Given the description of an element on the screen output the (x, y) to click on. 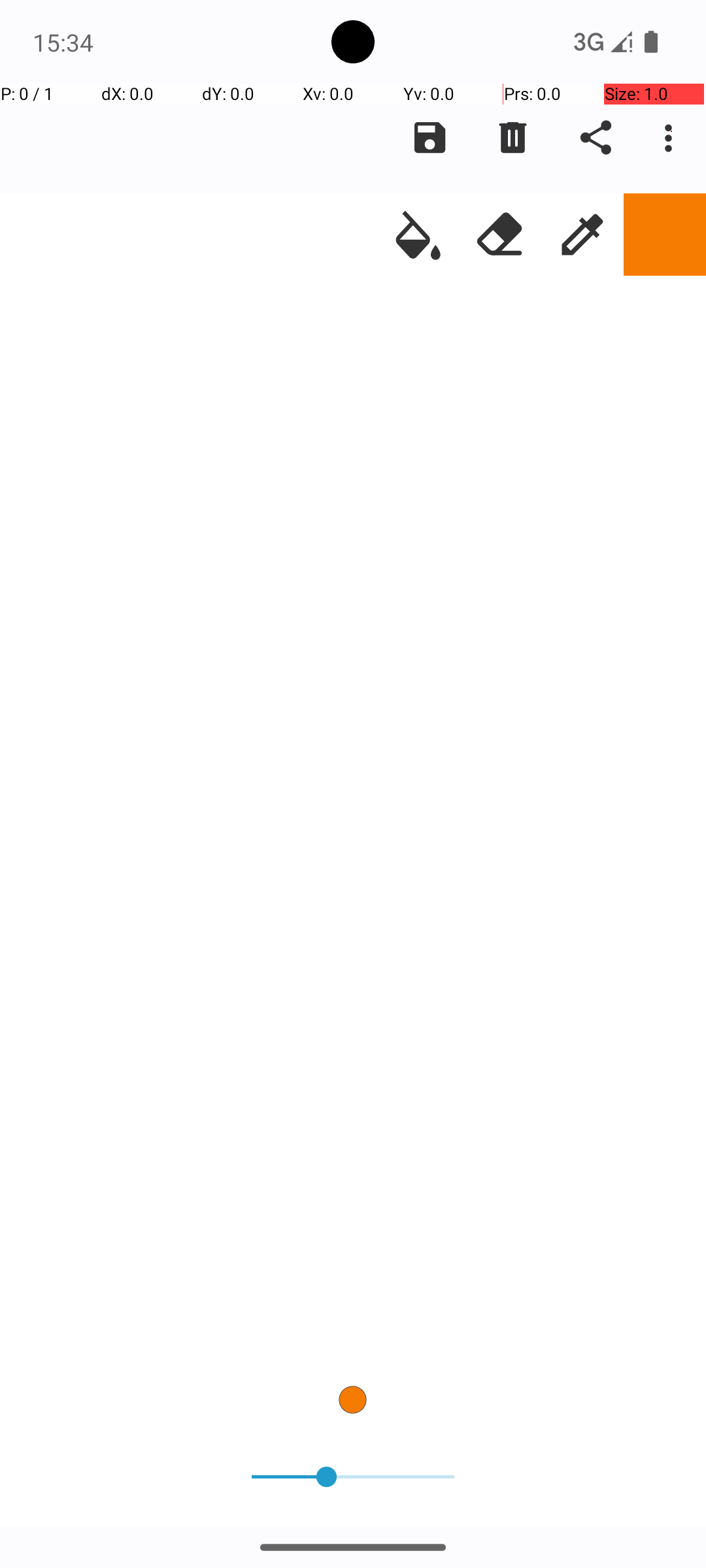
Clear Element type: android.widget.Button (512, 137)
Bucket fill Element type: android.widget.ImageView (417, 234)
Eraser Element type: android.widget.ImageView (499, 234)
Eyedropper Element type: android.widget.ImageView (582, 234)
Change color Element type: android.widget.ImageView (664, 234)
